Given the description of an element on the screen output the (x, y) to click on. 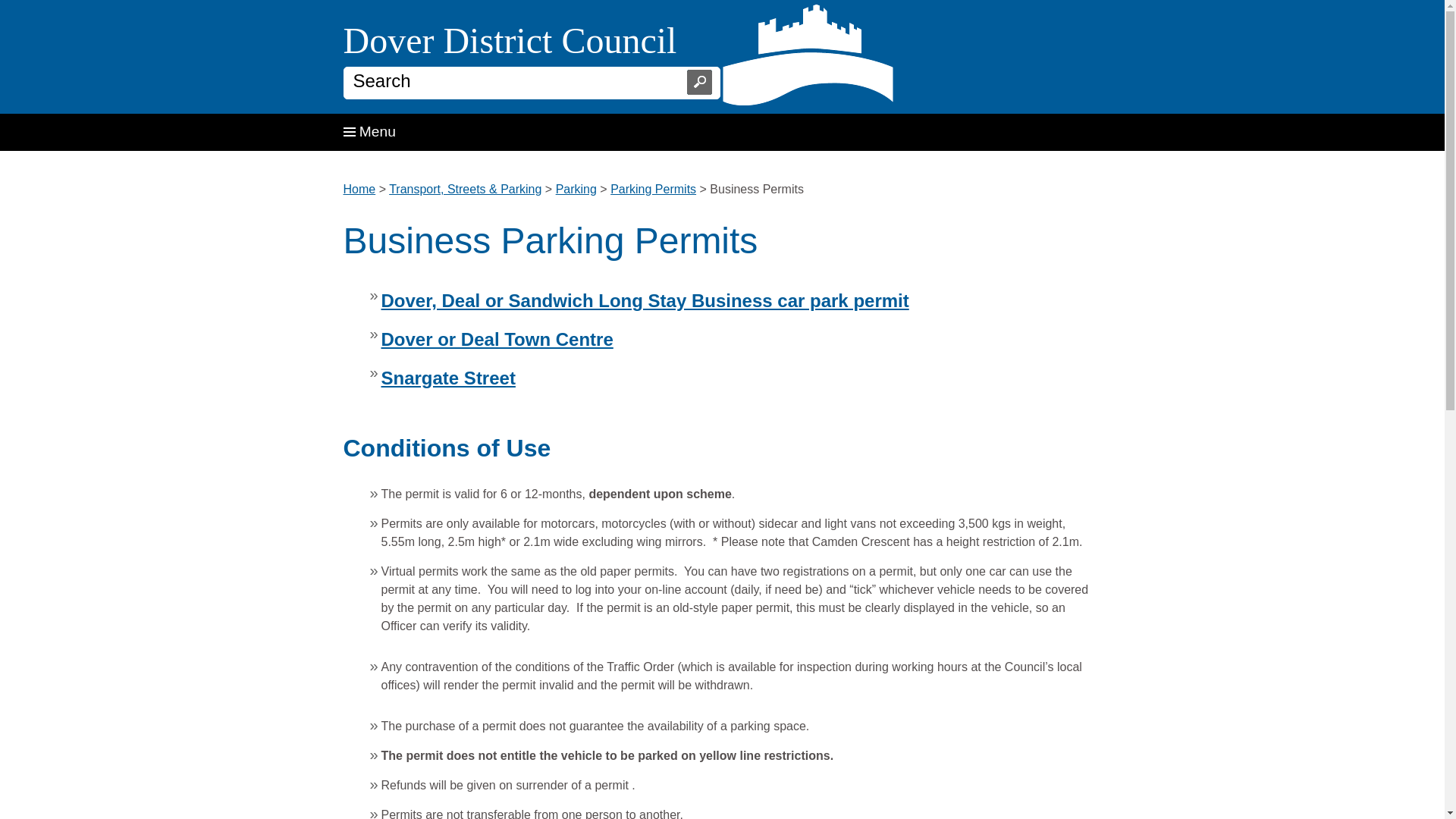
Menu (368, 131)
Search (696, 82)
Search (696, 82)
Search (509, 40)
Search (696, 82)
Search (505, 80)
Search (696, 82)
